Given the description of an element on the screen output the (x, y) to click on. 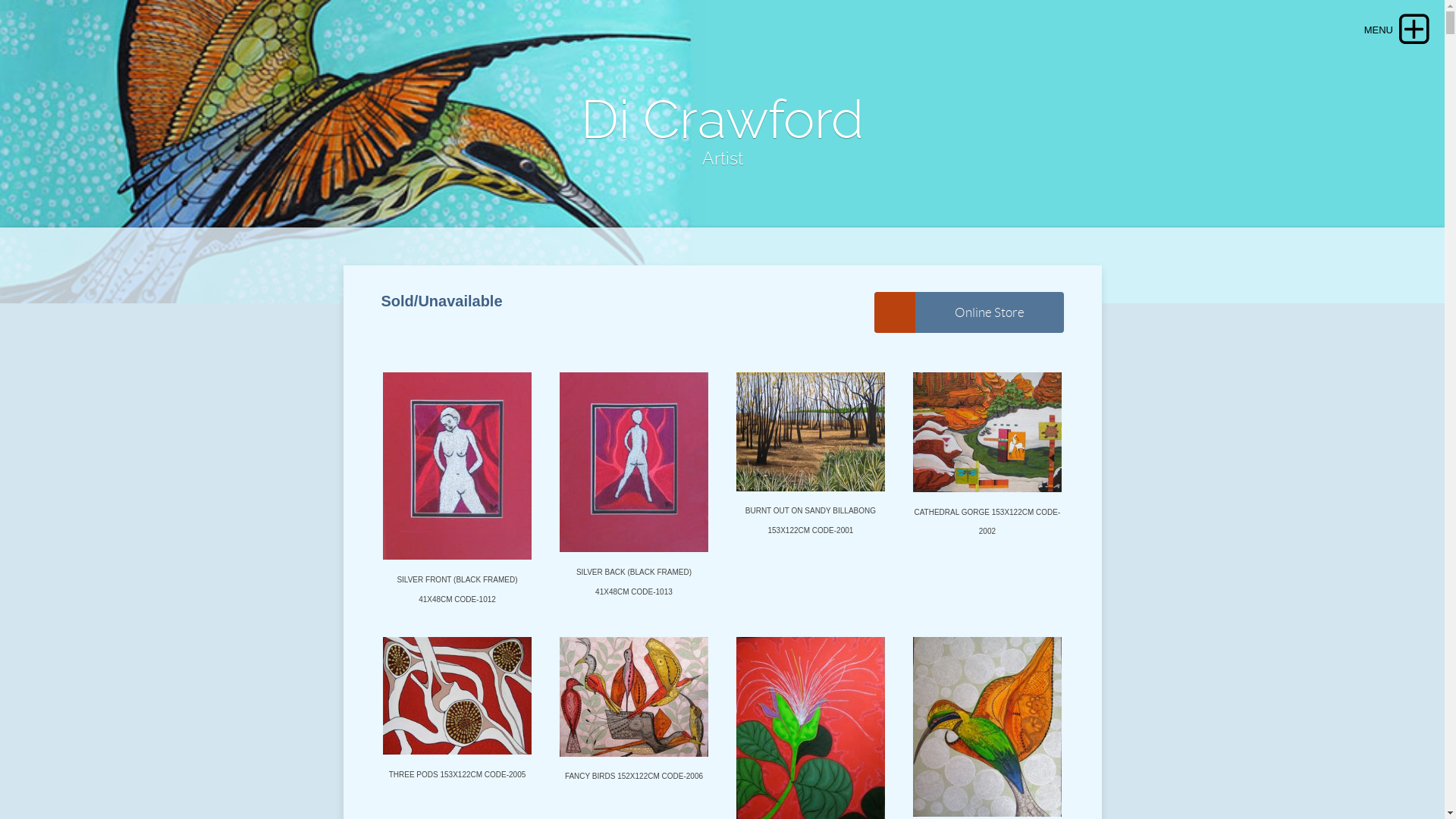
Three Pods 153x122cm Code-2005 Element type: hover (456, 701)
Cathedral Gorge 153x122cm Code-2002 Element type: hover (987, 437)
Silver Front (Black framed) 41x48cm Code-1012 Element type: hover (456, 471)
Online Store Element type: text (968, 311)
Fancy Birds 152x122cm Code-2006 Element type: hover (633, 701)
Burnt Out on Sandy Billabong 153x122cm Code-2001 Element type: hover (810, 436)
Silver Back (Black framed) 41x48cm Code-1013 Element type: hover (633, 467)
